Given the description of an element on the screen output the (x, y) to click on. 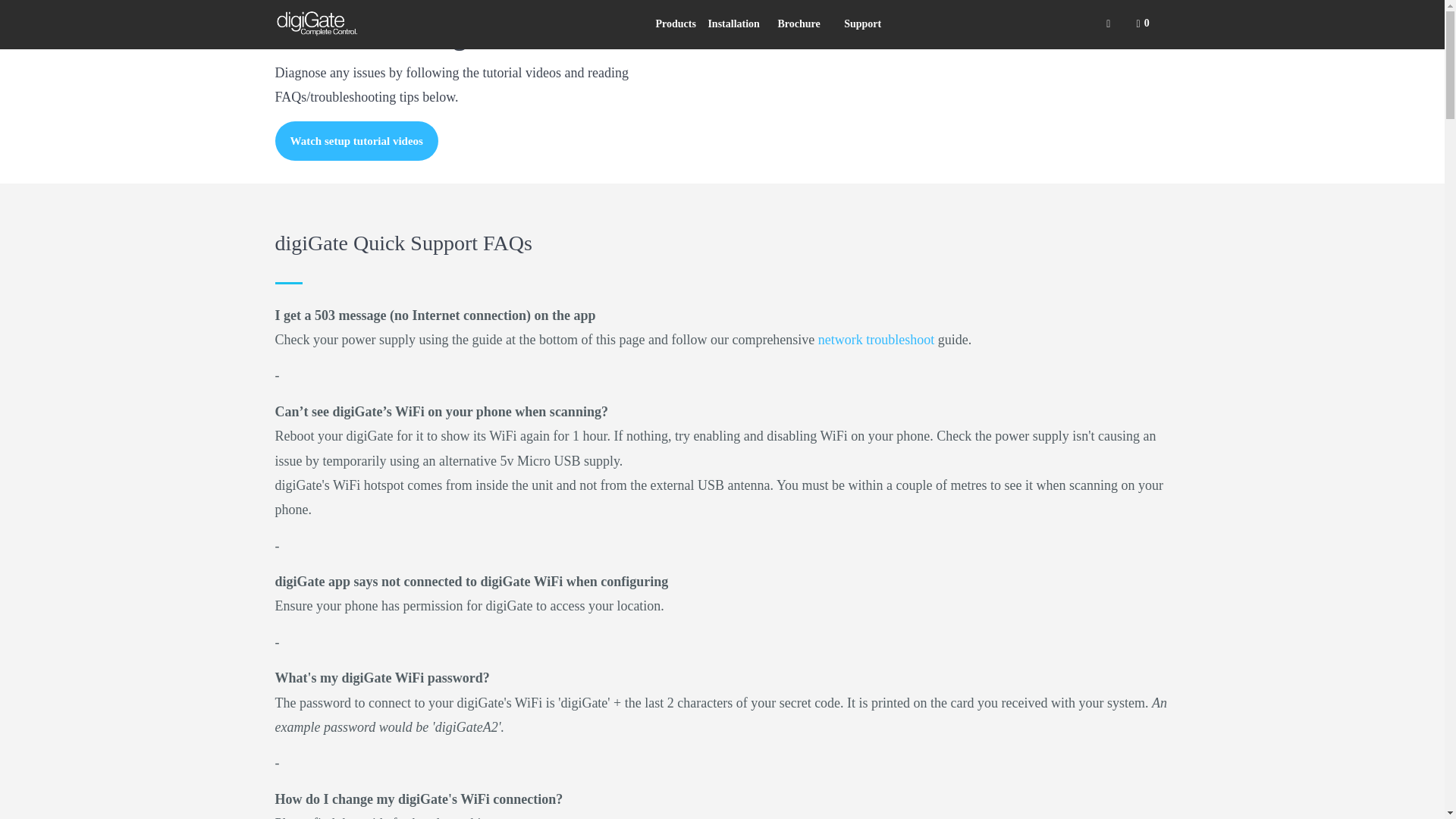
Watch setup tutorial videos (356, 140)
digiGate (352, 22)
Brochure (798, 23)
0 (1146, 23)
Products (675, 23)
digiGate Network Help (876, 339)
Search (1109, 23)
Installation (732, 23)
Support (861, 23)
network troubleshoot (876, 339)
